Given the description of an element on the screen output the (x, y) to click on. 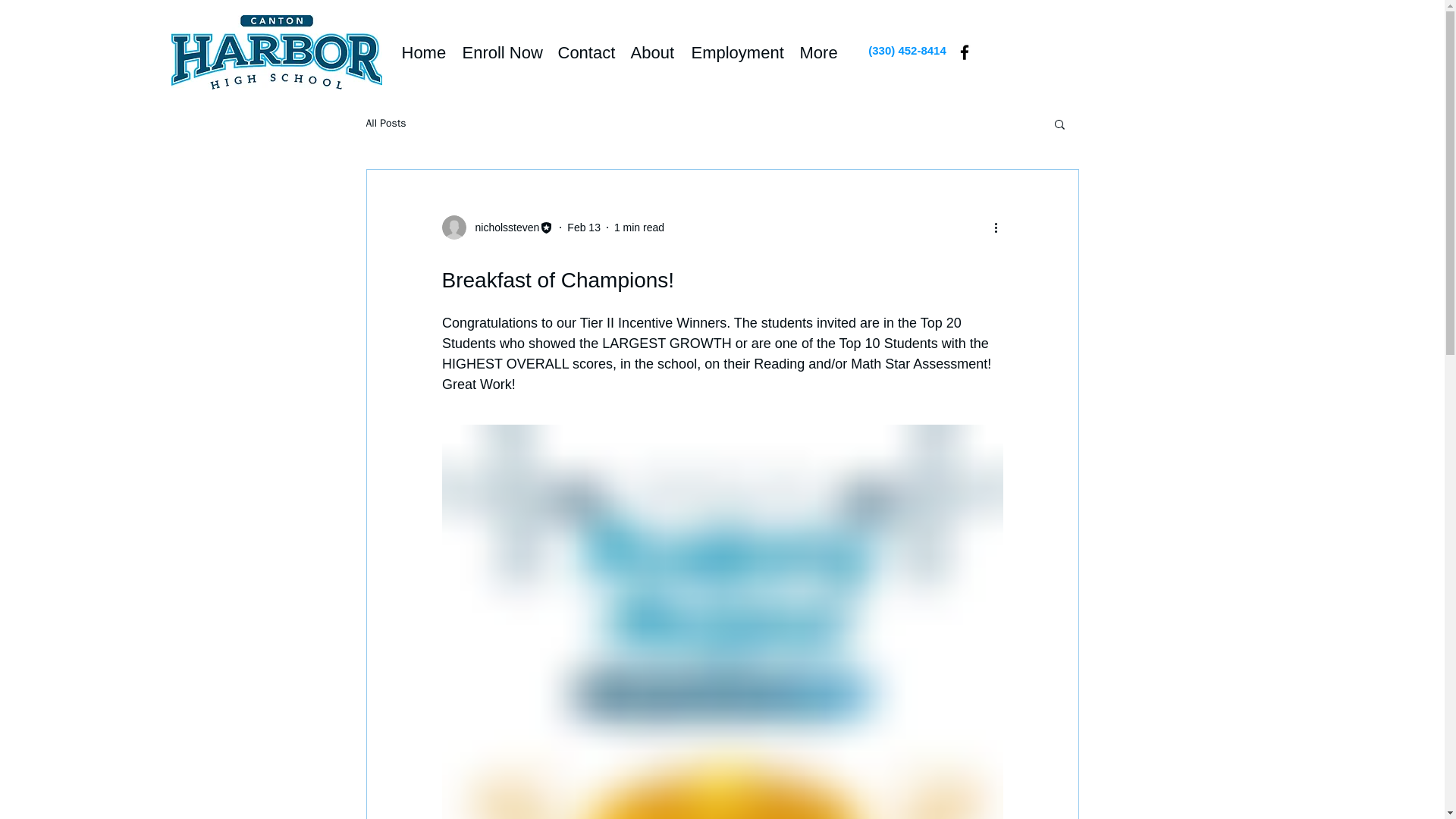
1 min read (638, 227)
nicholssteven (497, 227)
Enroll Now (502, 52)
Feb 13 (583, 227)
All Posts (385, 123)
About (653, 52)
Home (424, 52)
Employment (738, 52)
nicholssteven (501, 227)
Contact (586, 52)
